Given the description of an element on the screen output the (x, y) to click on. 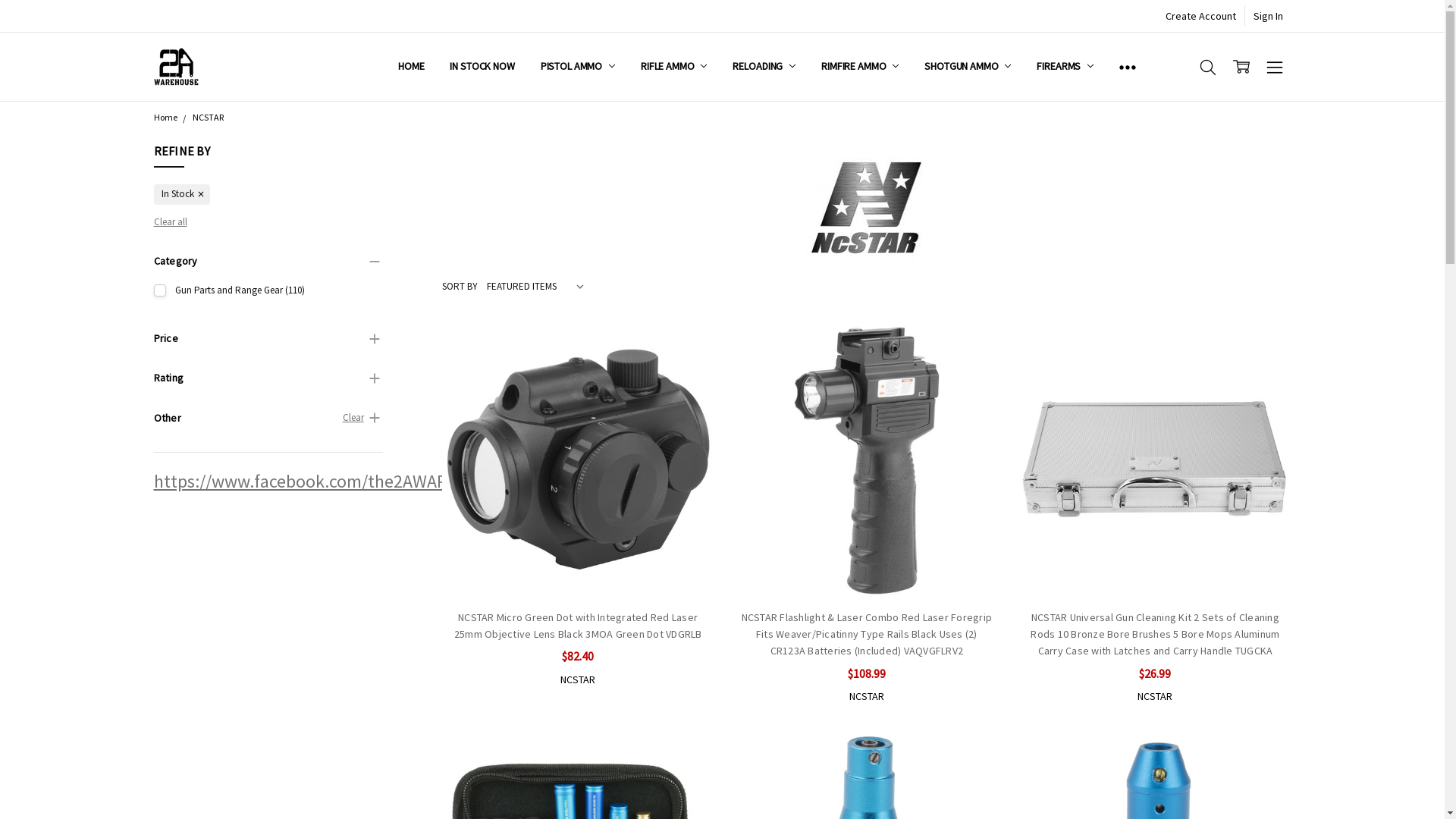
Create Account Element type: text (1200, 15)
PISTOL AMMO Element type: text (577, 66)
NCSTAR Element type: text (207, 116)
RIFLE AMMO Element type: text (673, 66)
Gun Parts and Range Gear (110) Element type: text (267, 290)
2A Warehouse Element type: hover (175, 66)
Show All Element type: hover (1127, 66)
RIMFIRE AMMO Element type: text (859, 66)
RELOADING Element type: text (763, 66)
Clear Element type: text (353, 417)
FIREARMS Element type: text (1064, 66)
Sign In Element type: text (1268, 15)
IN STOCK NOW Element type: text (481, 66)
SHOTGUN AMMO Element type: text (967, 66)
Clear all Element type: text (169, 221)
In Stock Element type: text (181, 194)
Home Element type: text (164, 116)
HOME Element type: text (410, 66)
https://www.facebook.com/the2AWAREHOUSE Element type: text (331, 480)
